Given the description of an element on the screen output the (x, y) to click on. 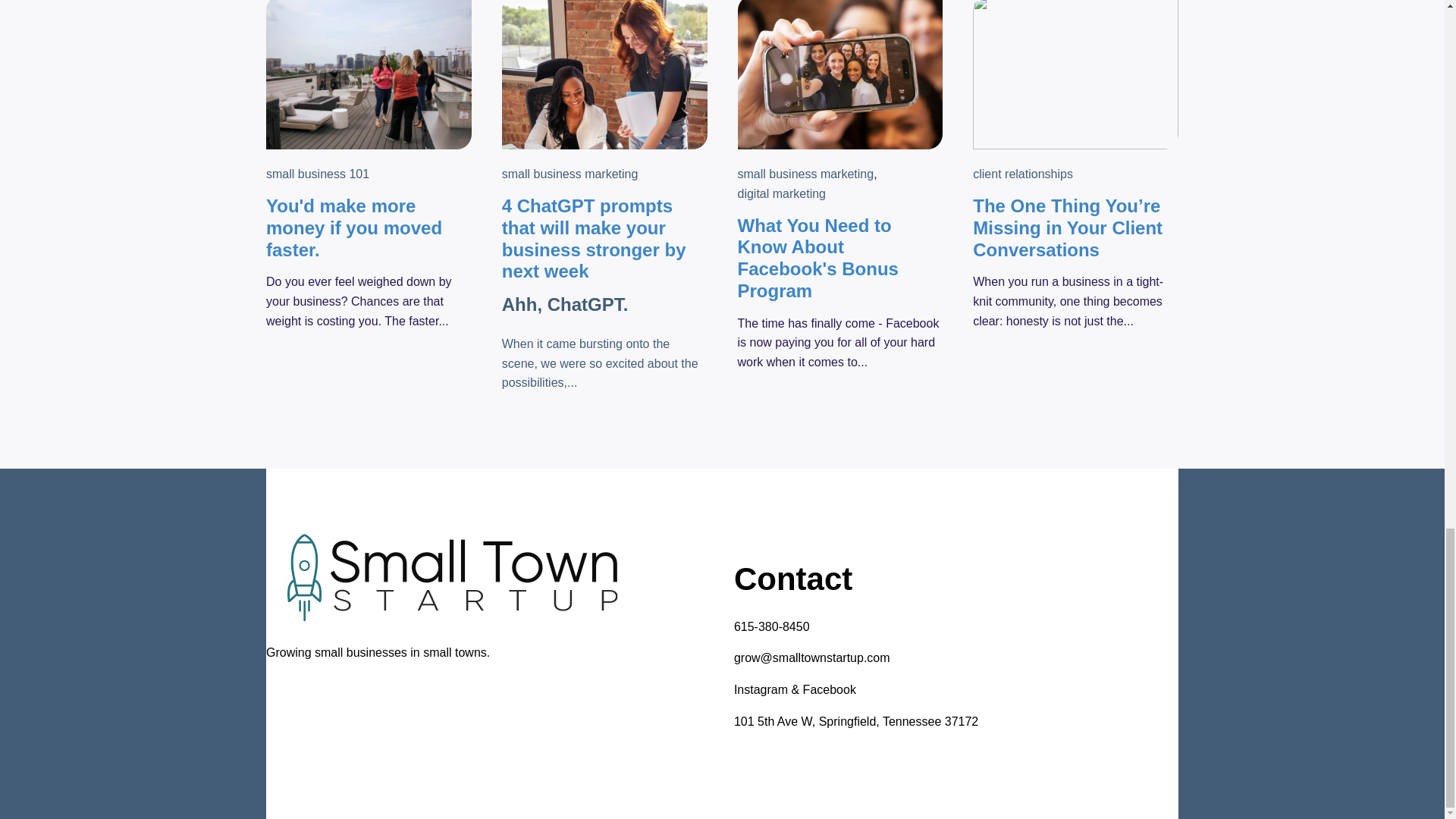
digital marketing (780, 193)
small business 101 (317, 174)
STS Logo New - 2021 (452, 577)
You'd make more money if you moved faster. (354, 227)
small business marketing (804, 174)
small business marketing (570, 174)
